Given the description of an element on the screen output the (x, y) to click on. 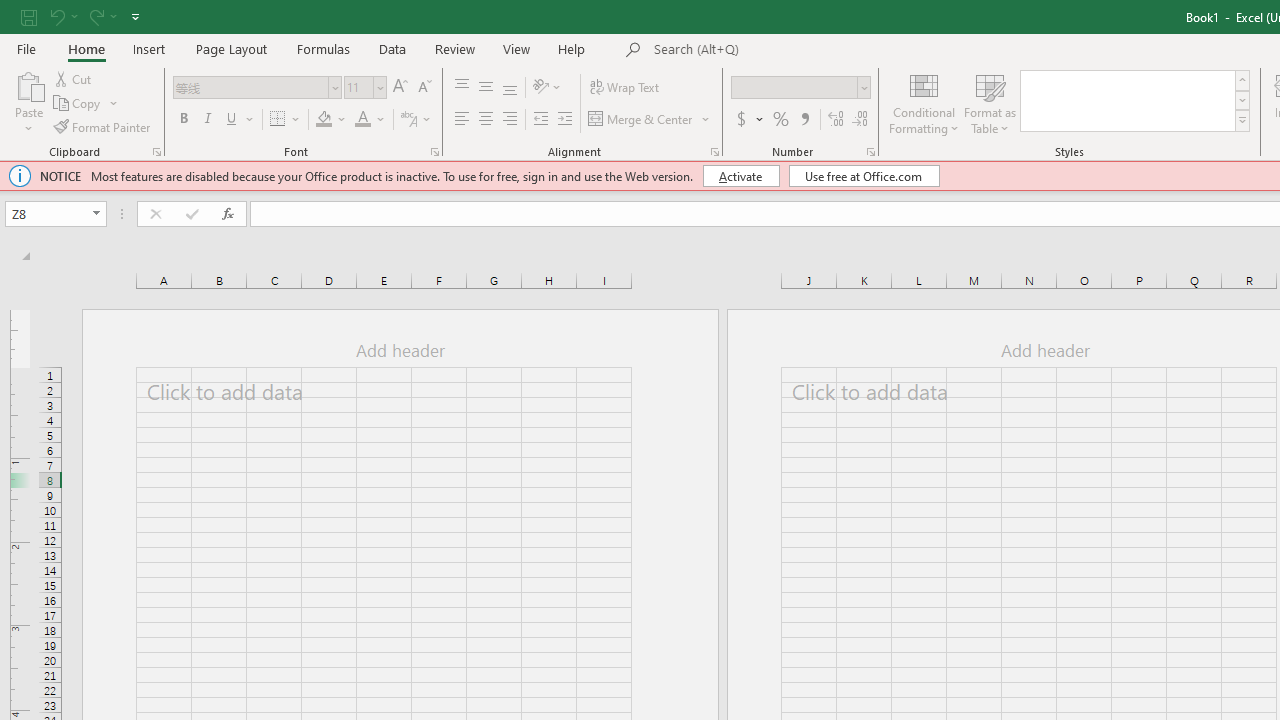
Format Cell Font (434, 151)
Conditional Formatting (924, 102)
Top Align (461, 87)
Decrease Font Size (424, 87)
Align Right (509, 119)
Activate (740, 175)
Format as Table (990, 102)
Format Cell Alignment (714, 151)
